Given the description of an element on the screen output the (x, y) to click on. 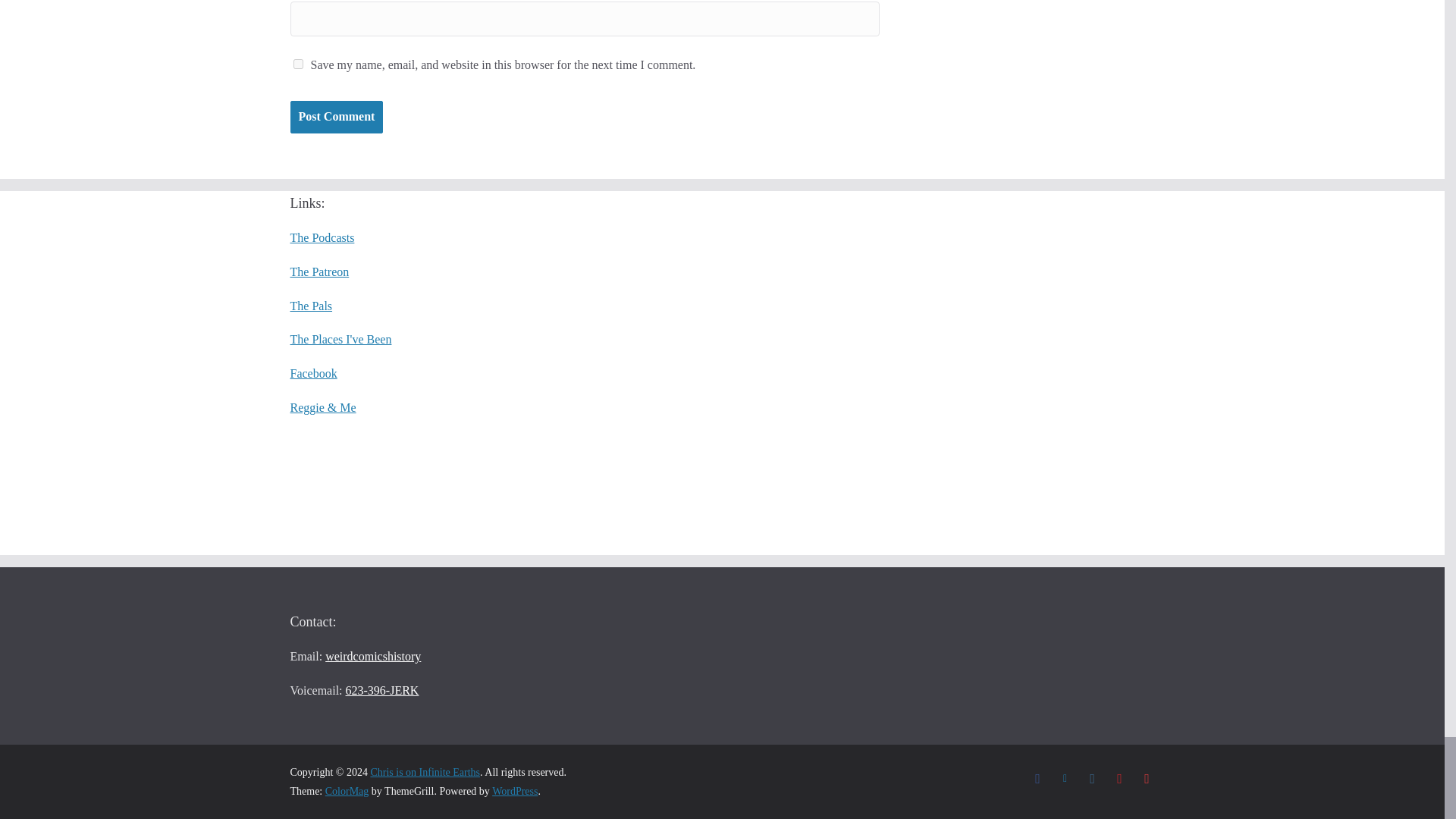
yes (297, 63)
Post Comment (335, 116)
